Given the description of an element on the screen output the (x, y) to click on. 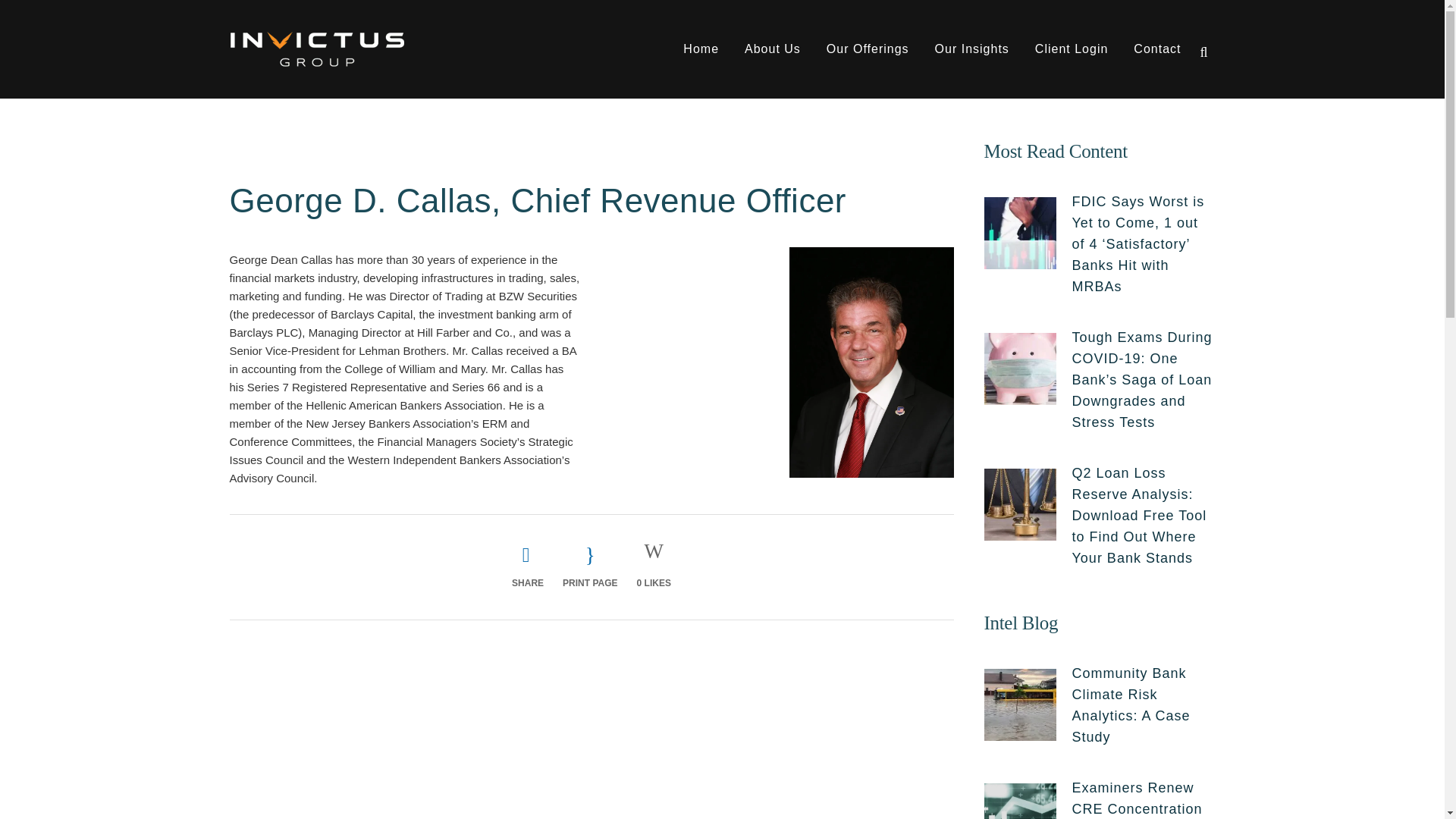
Our Offerings (867, 49)
Our Insights (971, 49)
Client Login (1071, 49)
